Given the description of an element on the screen output the (x, y) to click on. 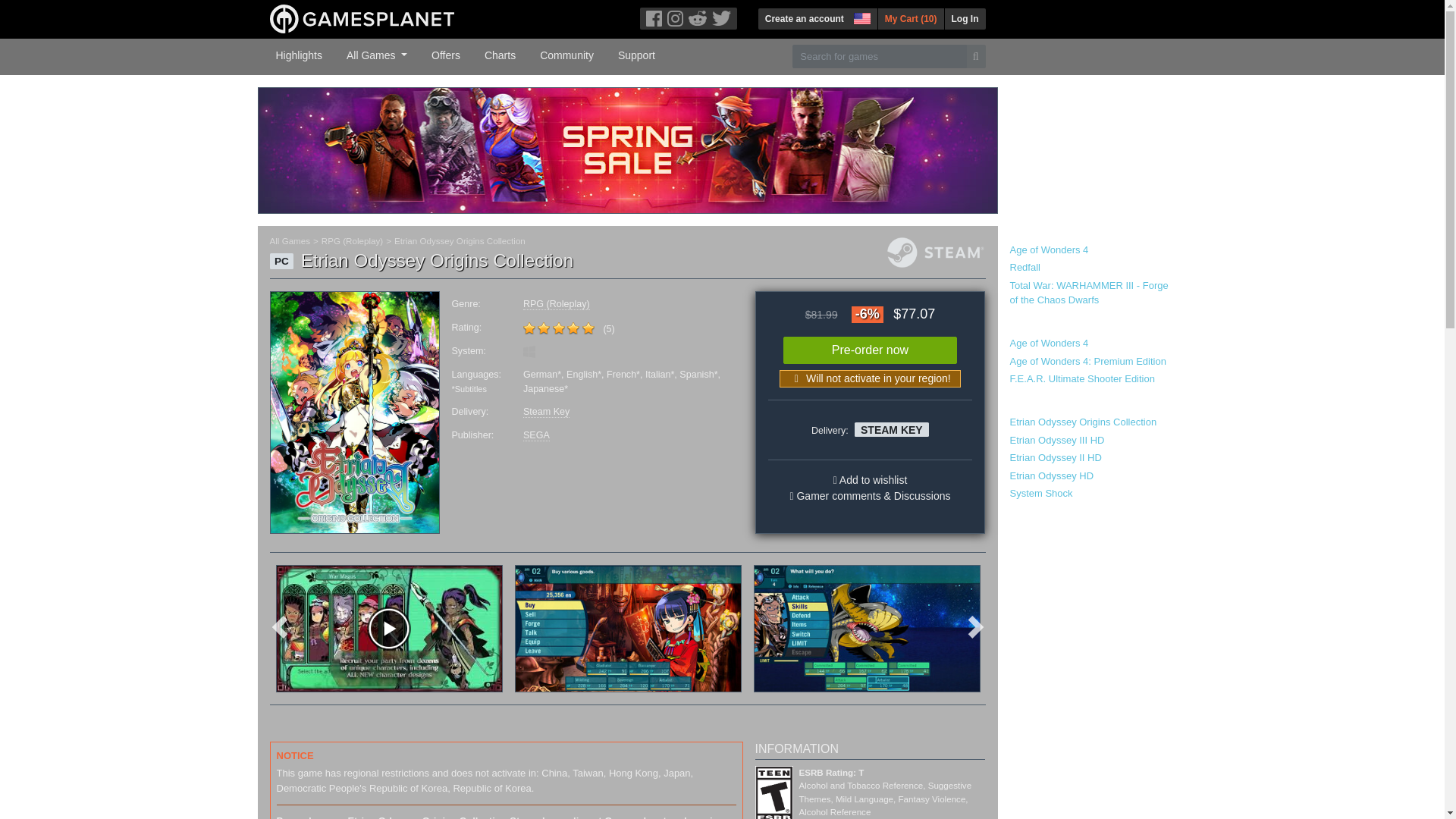
gorgeous (588, 328)
Create an account (804, 18)
All Games (376, 53)
gorgeous (573, 328)
Highlights (299, 53)
gorgeous (528, 328)
gorgeous (543, 328)
gorgeous (558, 328)
Log In (964, 18)
gorgeous (558, 327)
